Given the description of an element on the screen output the (x, y) to click on. 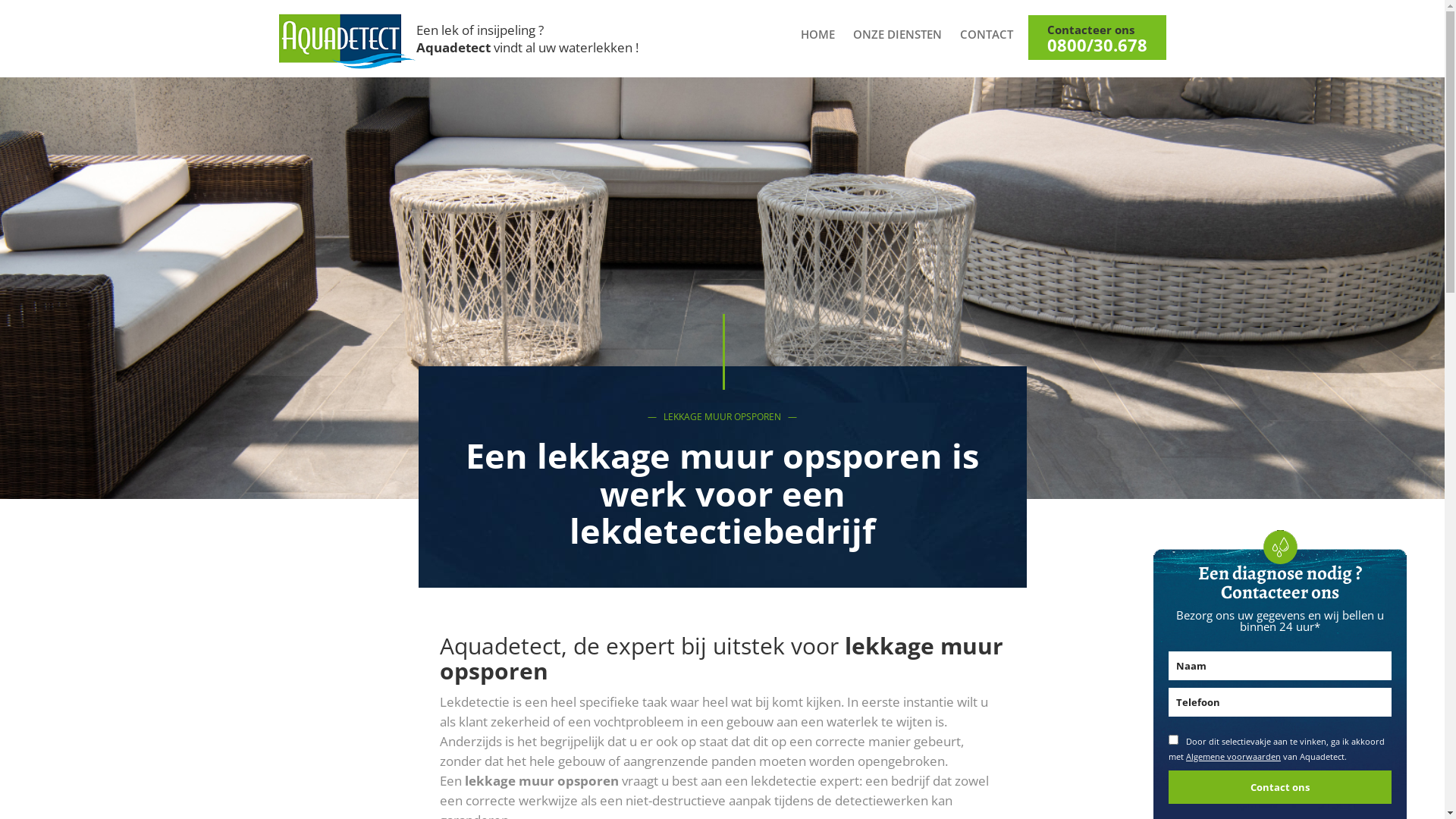
ONZE DIENSTEN Element type: text (904, 33)
Algemene voorwaarden Element type: text (1233, 756)
HOME Element type: text (825, 33)
Contact ons Element type: text (1279, 786)
CONTACT Element type: text (994, 33)
Contacteer ons
0800/30.678 Element type: text (1097, 37)
